Given the description of an element on the screen output the (x, y) to click on. 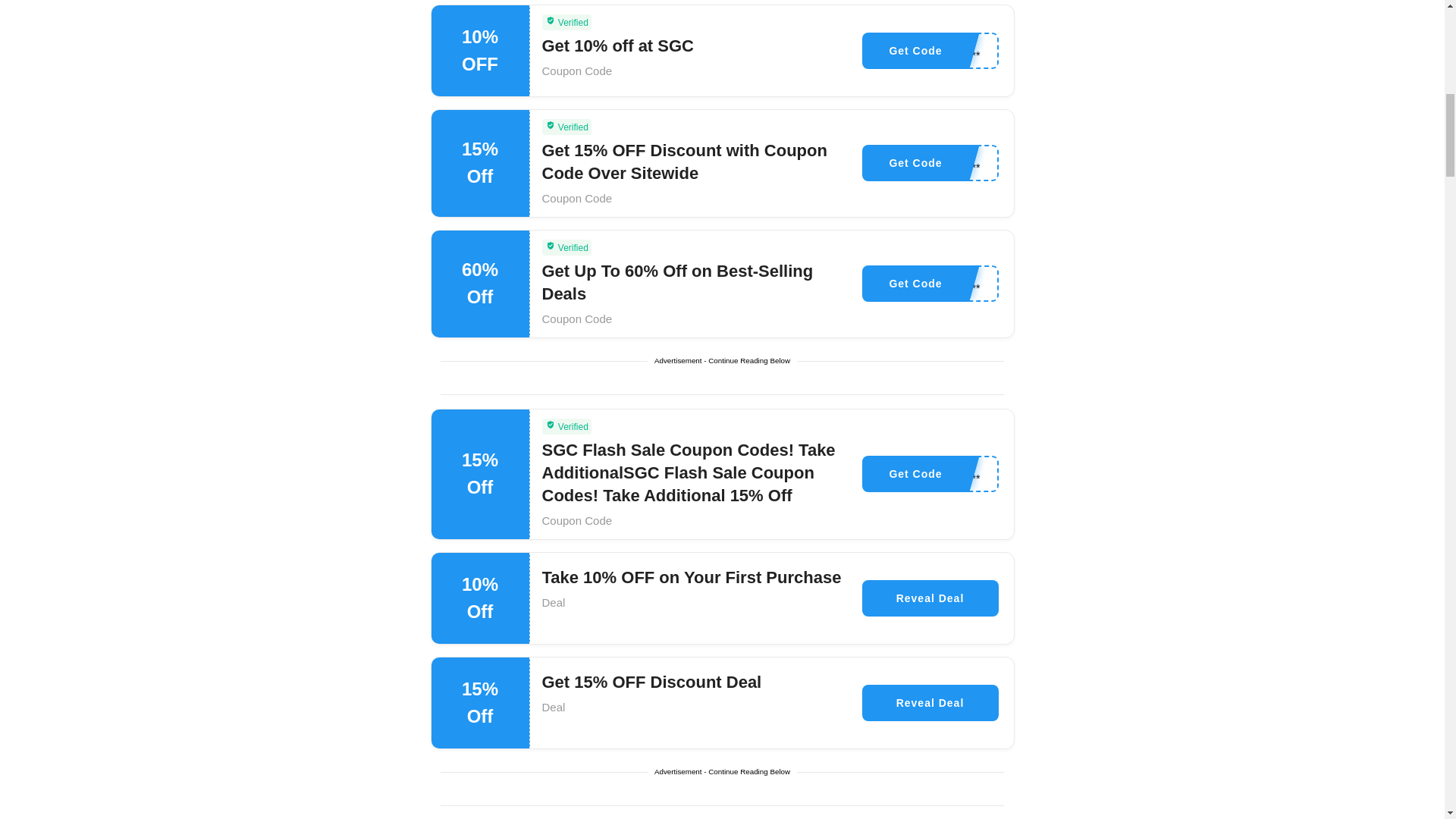
Deal (552, 602)
Coupon Code (576, 520)
Coupon Code (576, 318)
Coupon Code (576, 70)
Coupon Code (576, 197)
Reveal Deal (929, 597)
